Given the description of an element on the screen output the (x, y) to click on. 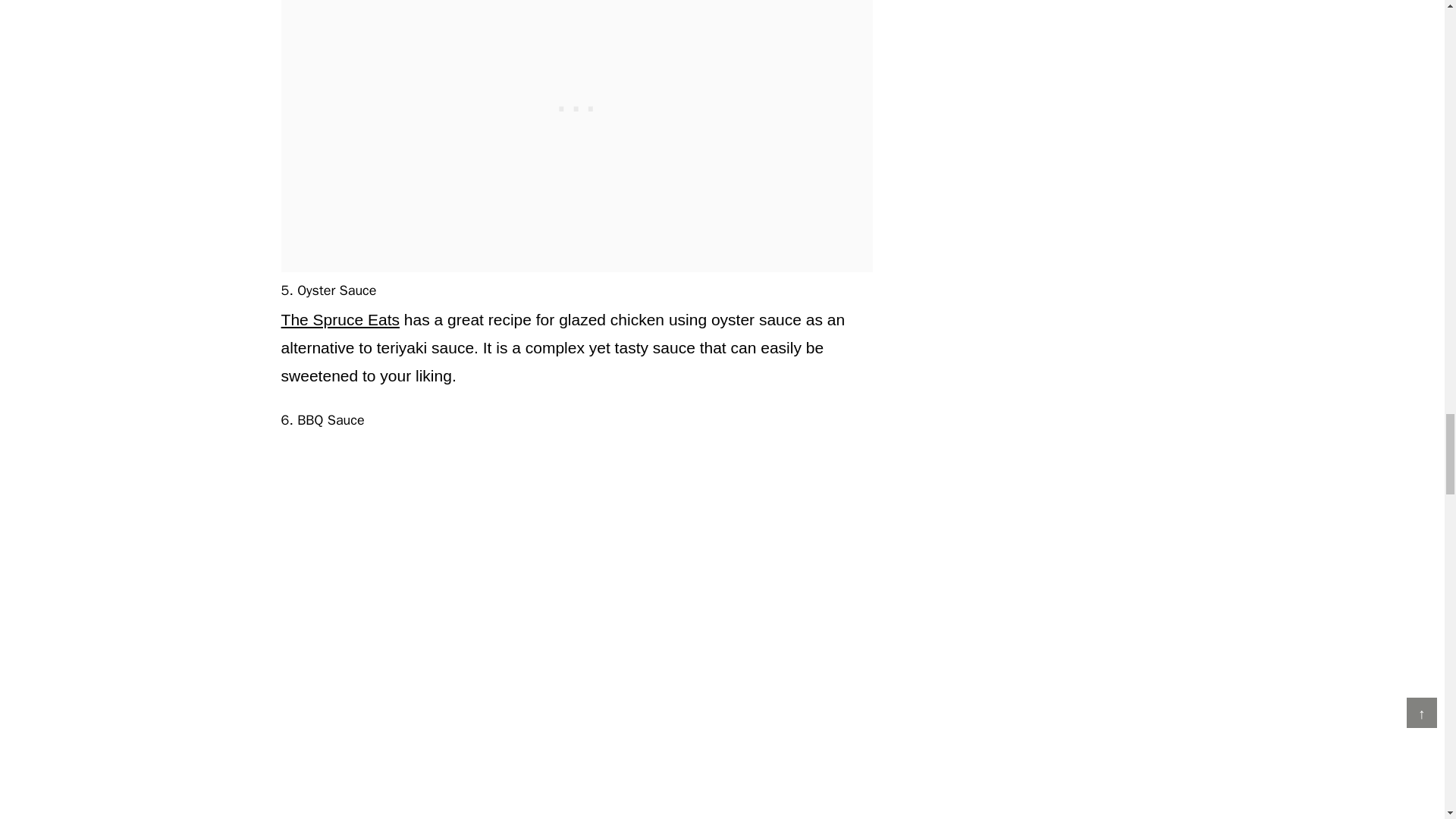
The Spruce Eats (339, 319)
